Given the description of an element on the screen output the (x, y) to click on. 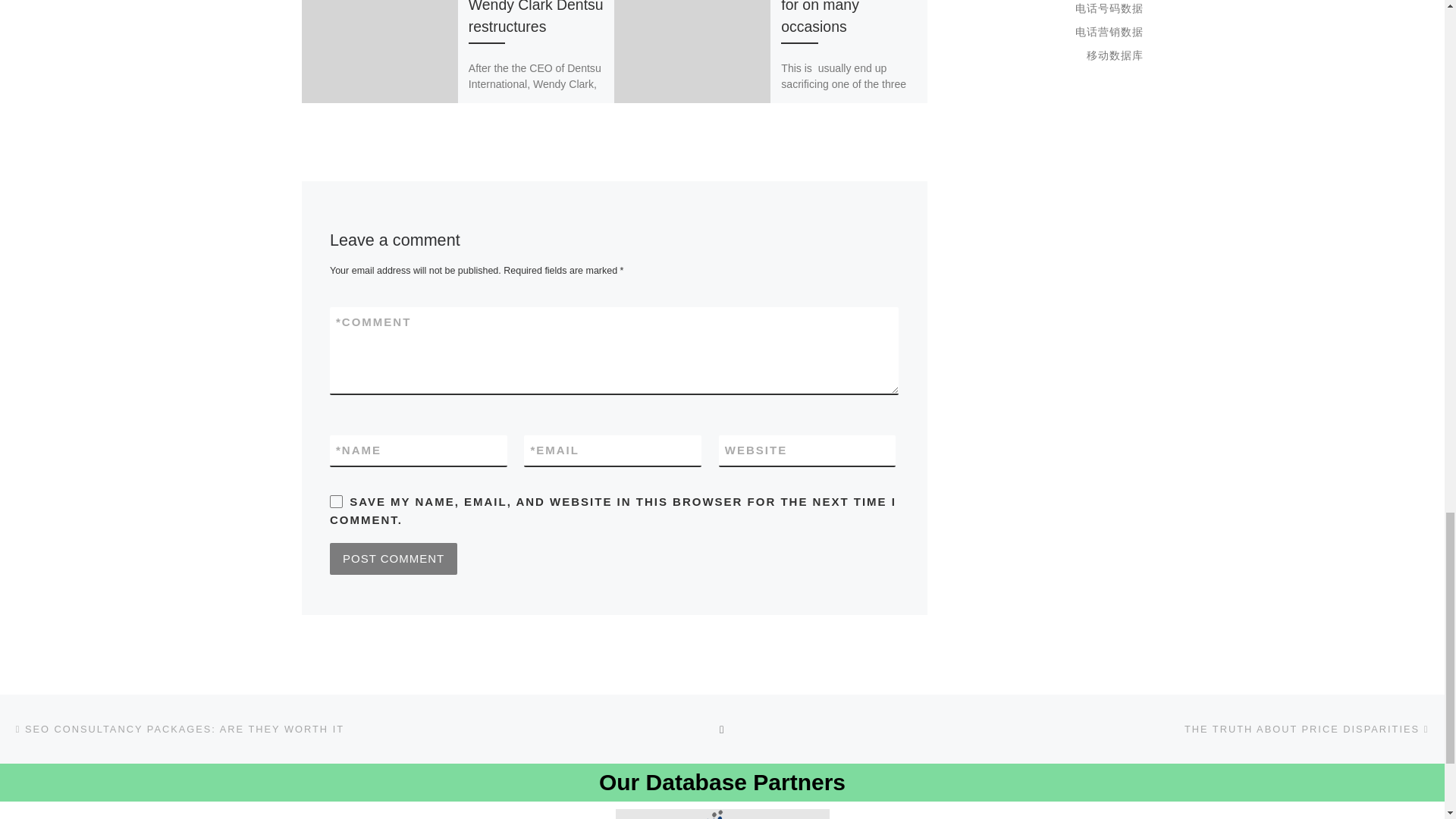
Post Comment (393, 558)
After the goodbye of Wendy Clark Dentsu restructures (536, 17)
This is what we look for on many occasions (846, 17)
yes (336, 501)
